Given the description of an element on the screen output the (x, y) to click on. 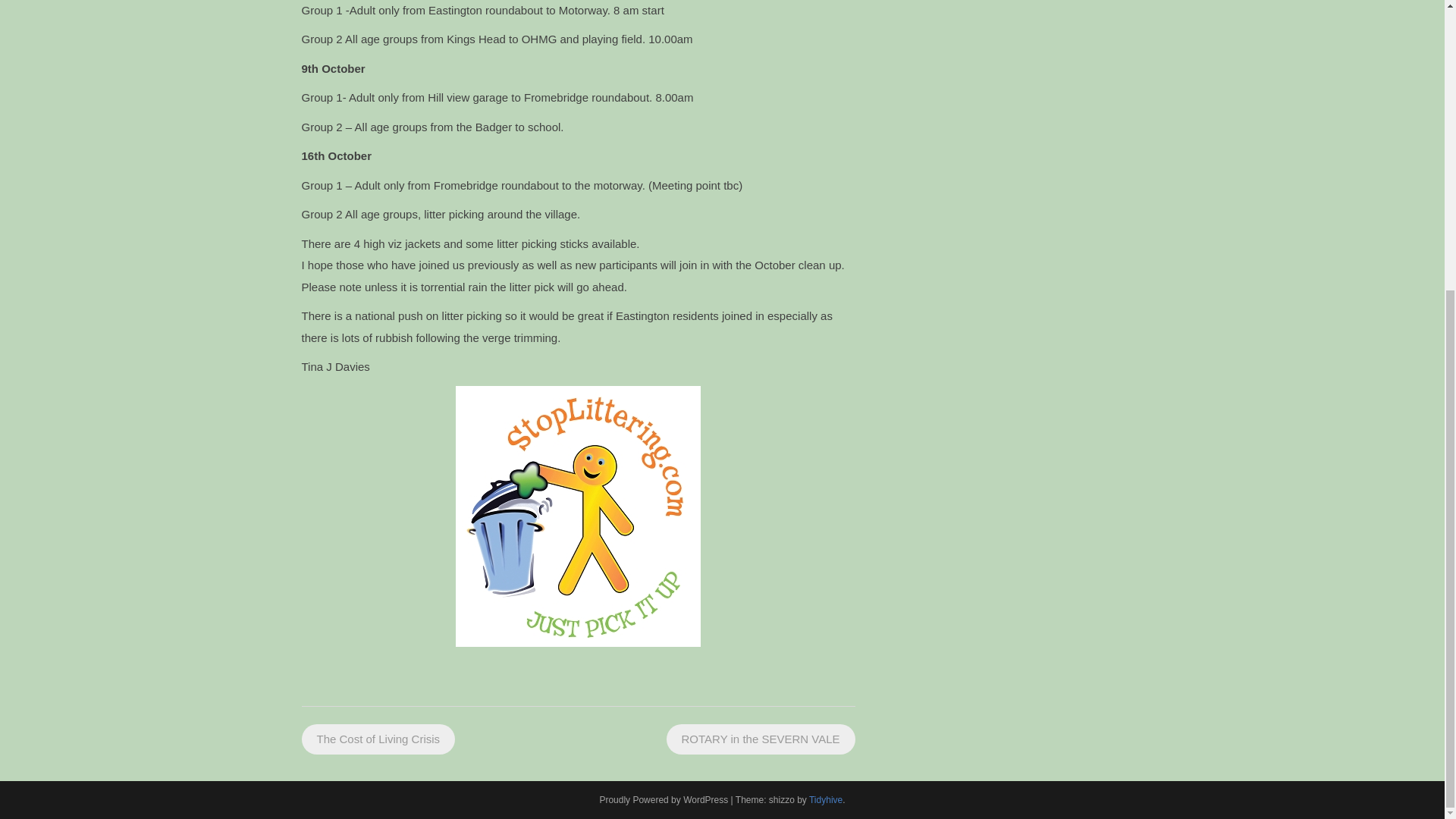
Tidyhive (826, 799)
The Cost of Living Crisis (378, 739)
ROTARY in the SEVERN VALE (761, 739)
